Given the description of an element on the screen output the (x, y) to click on. 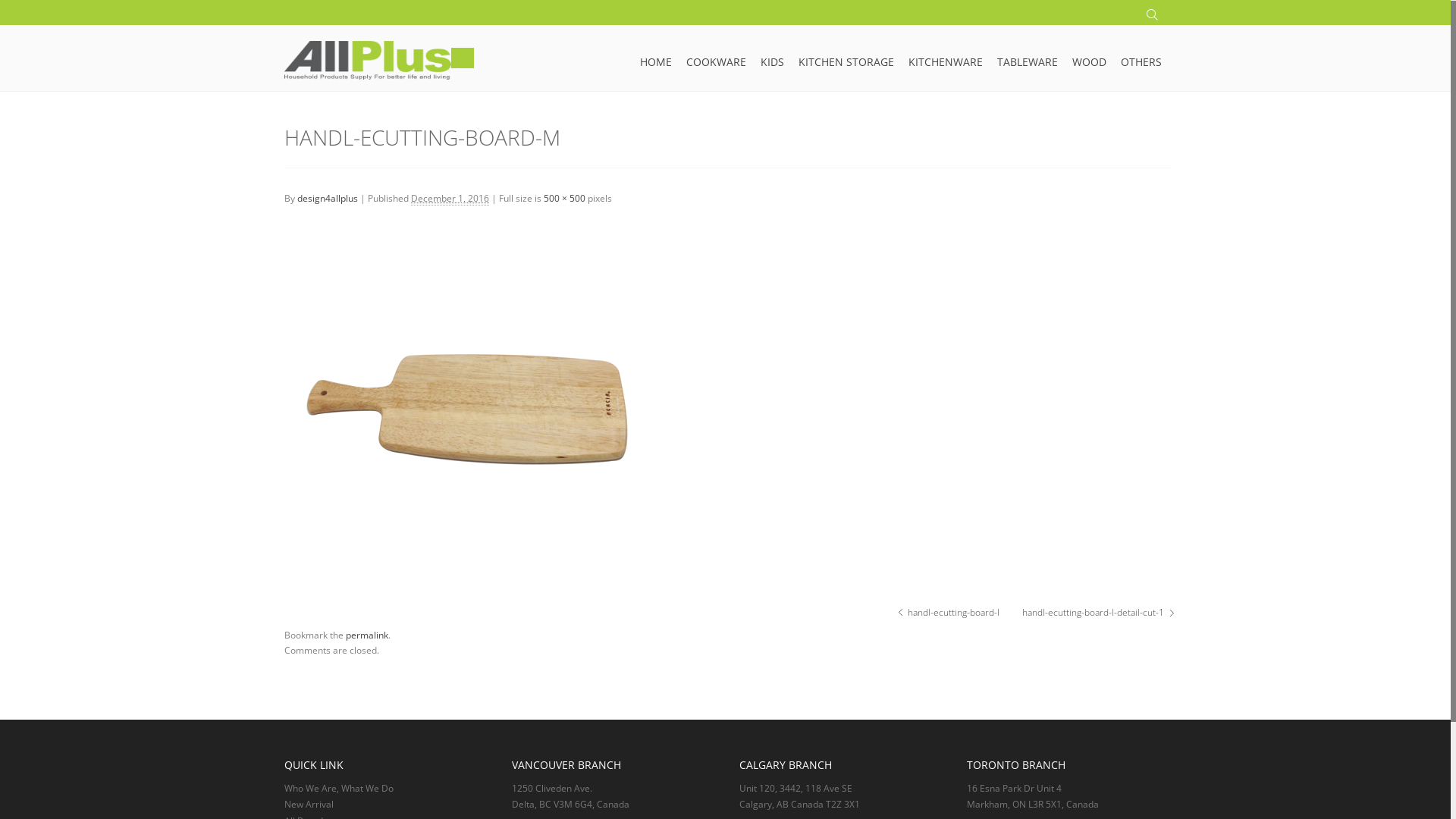
handl-ecutting-board-l Element type: text (953, 611)
KITCHEN STORAGE Element type: text (846, 53)
16 Esna Park Dr Unit 4
Markham, ON L3R 5X1, Canada Element type: text (1032, 796)
KIDS Element type: text (772, 53)
handl-ecutting-board-m Element type: hover (473, 409)
KITCHENWARE Element type: text (945, 53)
WOOD Element type: text (1089, 53)
Who We Are, What We Do Element type: text (338, 787)
design4allplus Element type: text (327, 197)
HOME Element type: text (655, 53)
Unit 120, 3442, 118 Ave SE
Calgary, AB Canada T2Z 3X1 Element type: text (799, 796)
handl-ecutting-board-l-detail-cut-1 Element type: text (1093, 611)
1250 Cliveden Ave.
Delta, BC V3M 6G4, Canada Element type: text (570, 796)
permalink Element type: text (366, 634)
TABLEWARE Element type: text (1027, 53)
OTHERS Element type: text (1140, 53)
COOKWARE Element type: text (716, 53)
New Arrival Element type: text (308, 803)
Go Element type: text (12, 12)
